Given the description of an element on the screen output the (x, y) to click on. 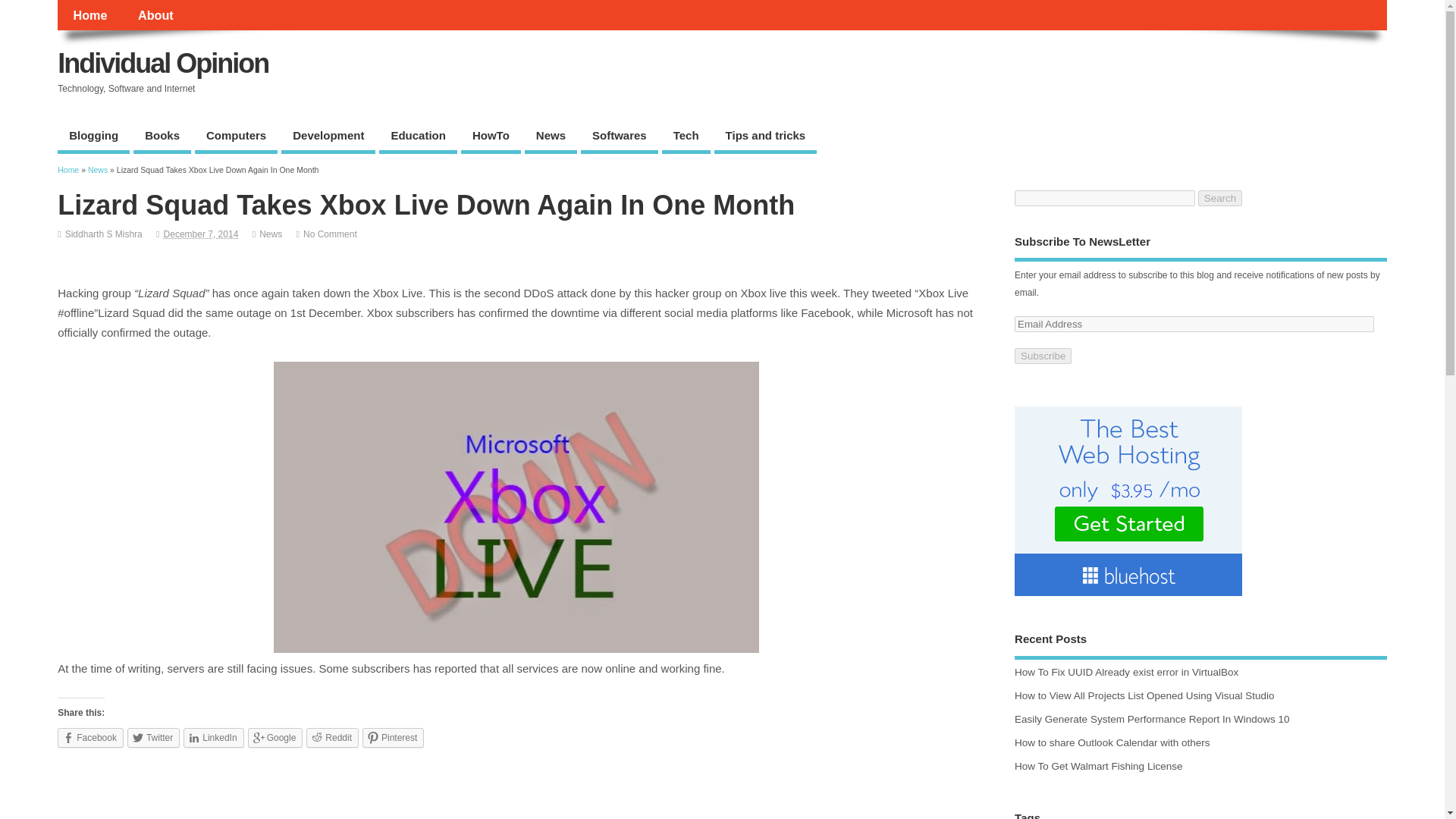
News (270, 234)
News (97, 169)
Subscribe (1042, 355)
Facebook (90, 737)
Tech (686, 137)
HowTo (491, 137)
Google (274, 737)
Books (161, 137)
Softwares (619, 137)
Home (68, 169)
